Given the description of an element on the screen output the (x, y) to click on. 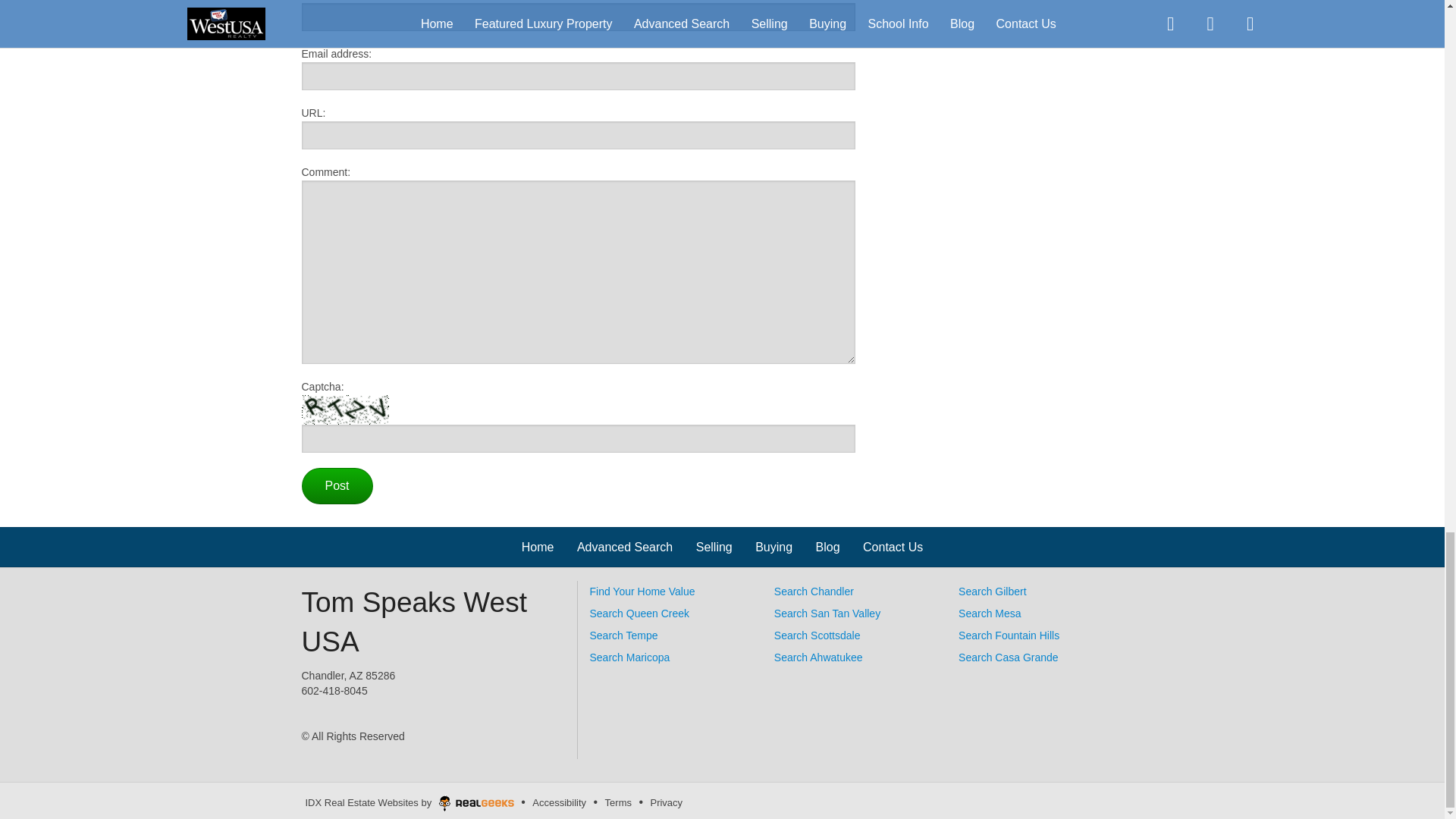
Home (537, 546)
Selling (713, 546)
Post (336, 485)
Advanced Search (624, 546)
Post (336, 485)
